Given the description of an element on the screen output the (x, y) to click on. 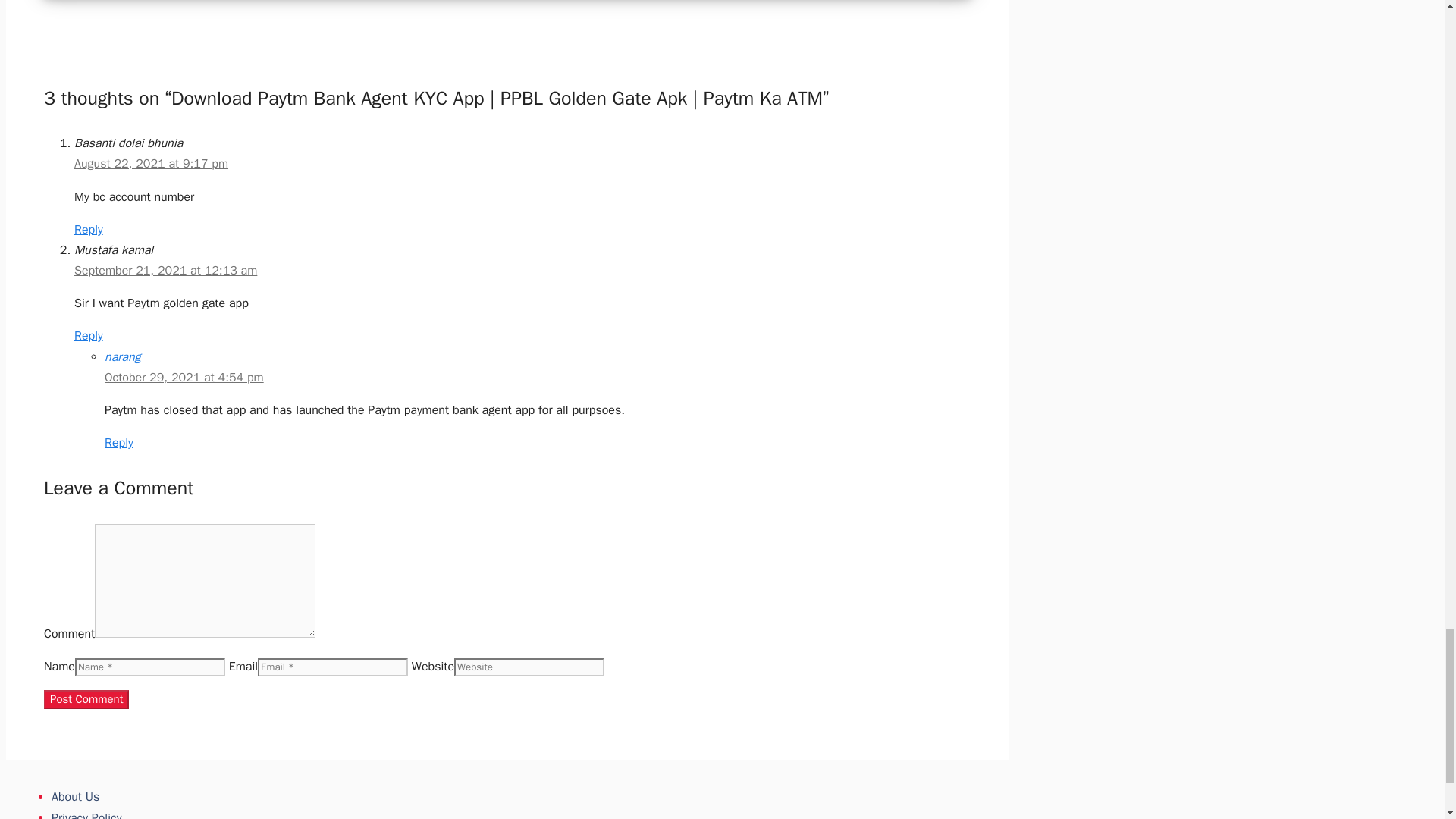
Reply (88, 229)
narang (122, 356)
October 29, 2021 at 4:54 pm (183, 377)
Reply (88, 335)
September 21, 2021 at 12:13 am (165, 270)
Reply (118, 442)
Post Comment (86, 699)
August 22, 2021 at 9:17 pm (151, 163)
Post Comment (86, 699)
